Given the description of an element on the screen output the (x, y) to click on. 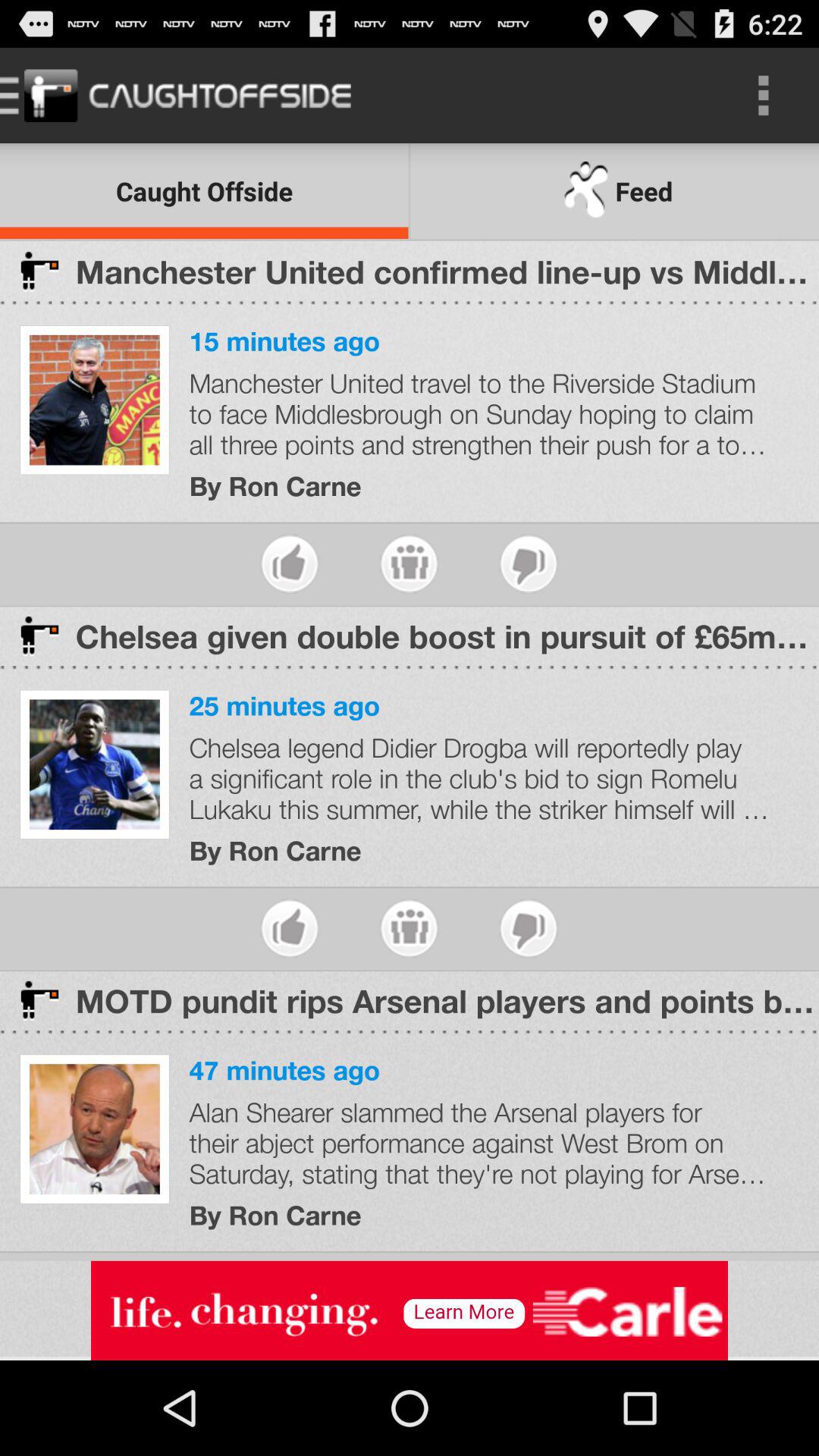
advertisement (409, 1310)
